Given the description of an element on the screen output the (x, y) to click on. 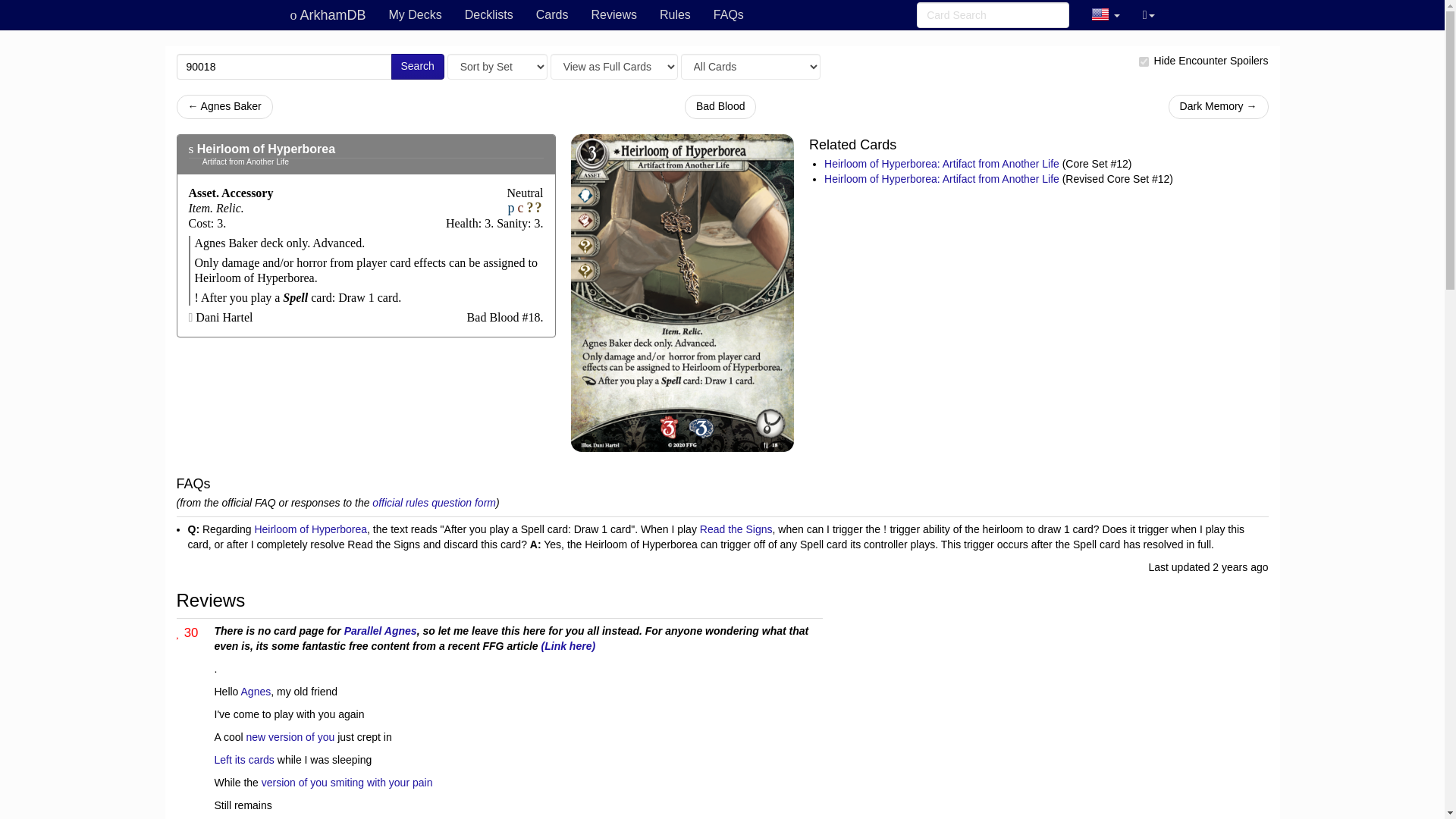
Reviews (613, 15)
new version of you (290, 736)
Heirloom of Hyperborea (309, 529)
Search (417, 66)
FAQs (728, 15)
hide (1143, 61)
Read the Signs (736, 529)
Cards (551, 15)
ArkhamDB (328, 15)
90018 (283, 66)
Bad Blood (720, 106)
Rules (674, 15)
version of you smiting with your pain (347, 782)
Heirloom of Hyperborea (265, 148)
official rules question form (434, 502)
